Given the description of an element on the screen output the (x, y) to click on. 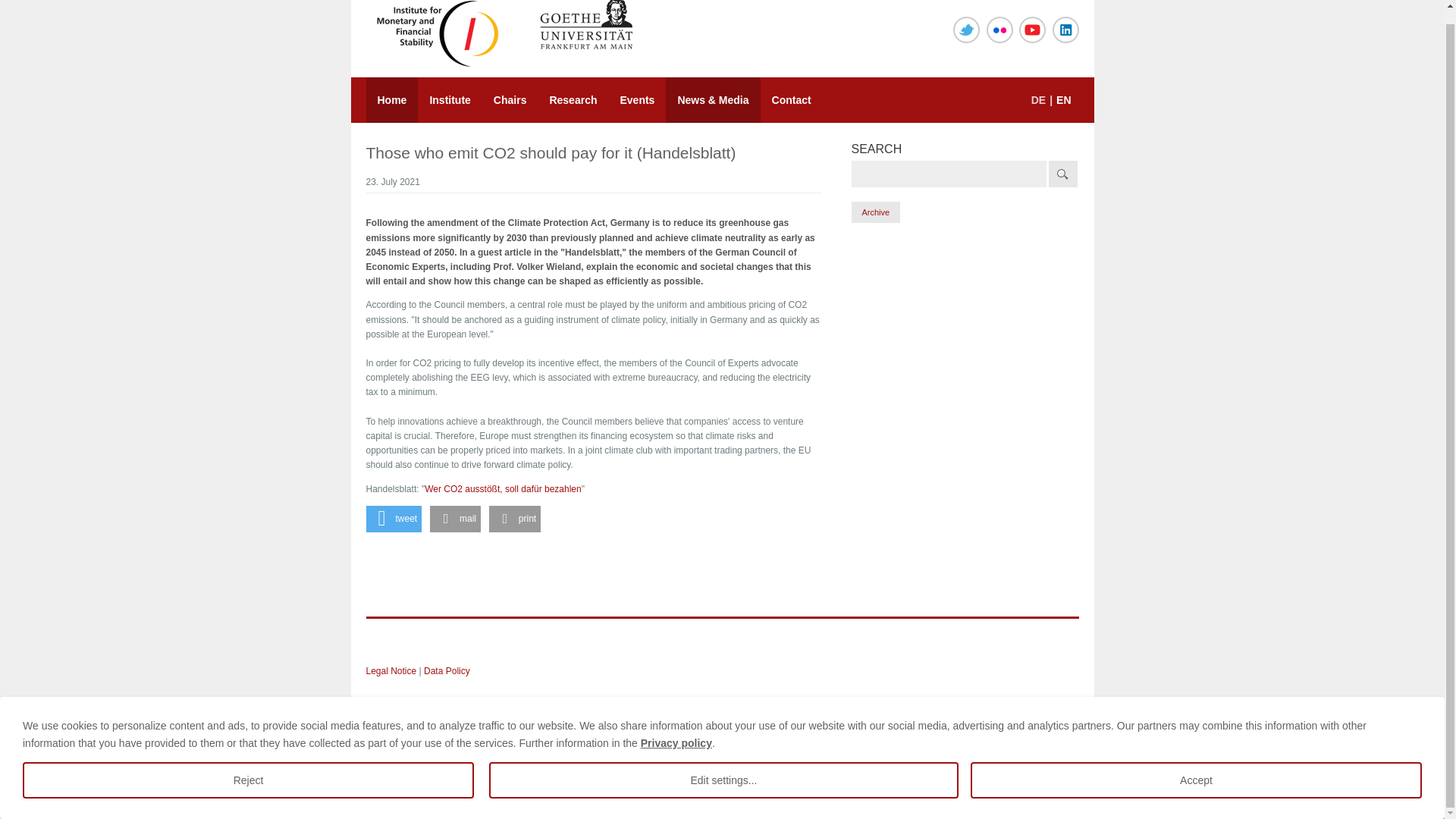
Institute (449, 99)
Chairs (509, 99)
Institute (449, 99)
Home (391, 99)
Home (391, 99)
